Given the description of an element on the screen output the (x, y) to click on. 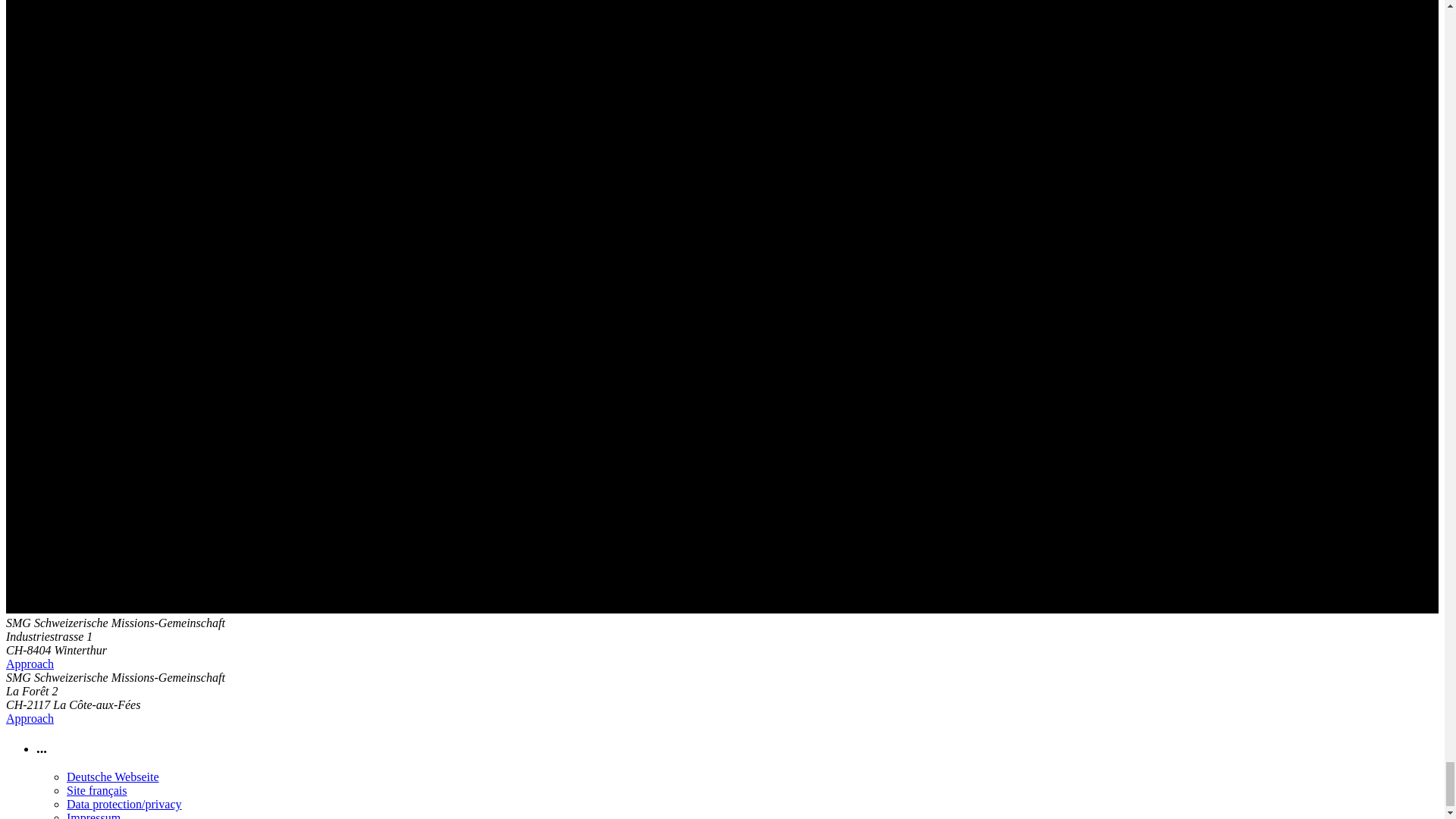
Approach (29, 663)
